Given the description of an element on the screen output the (x, y) to click on. 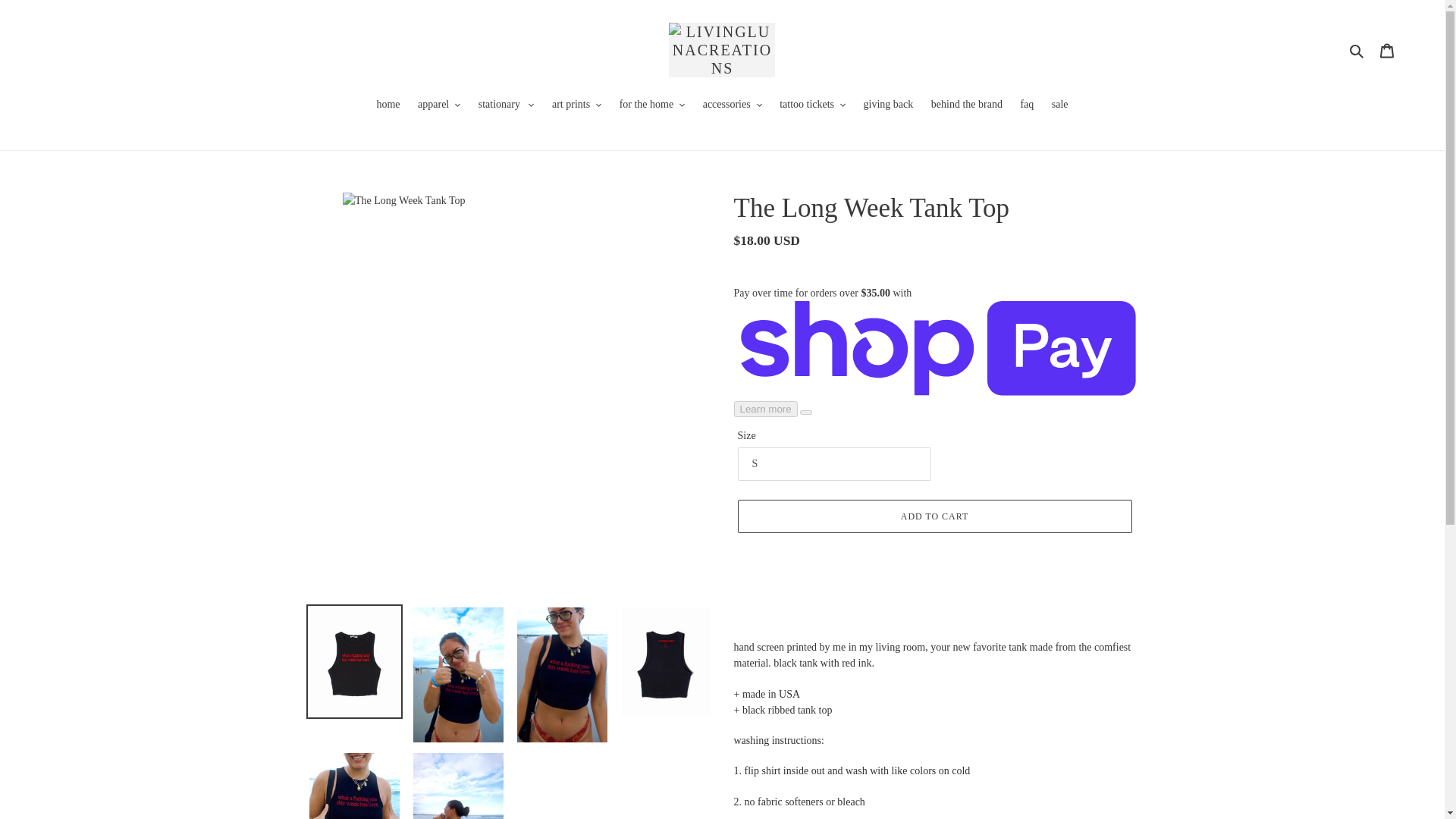
Cart (1387, 50)
Search (1357, 49)
